Given the description of an element on the screen output the (x, y) to click on. 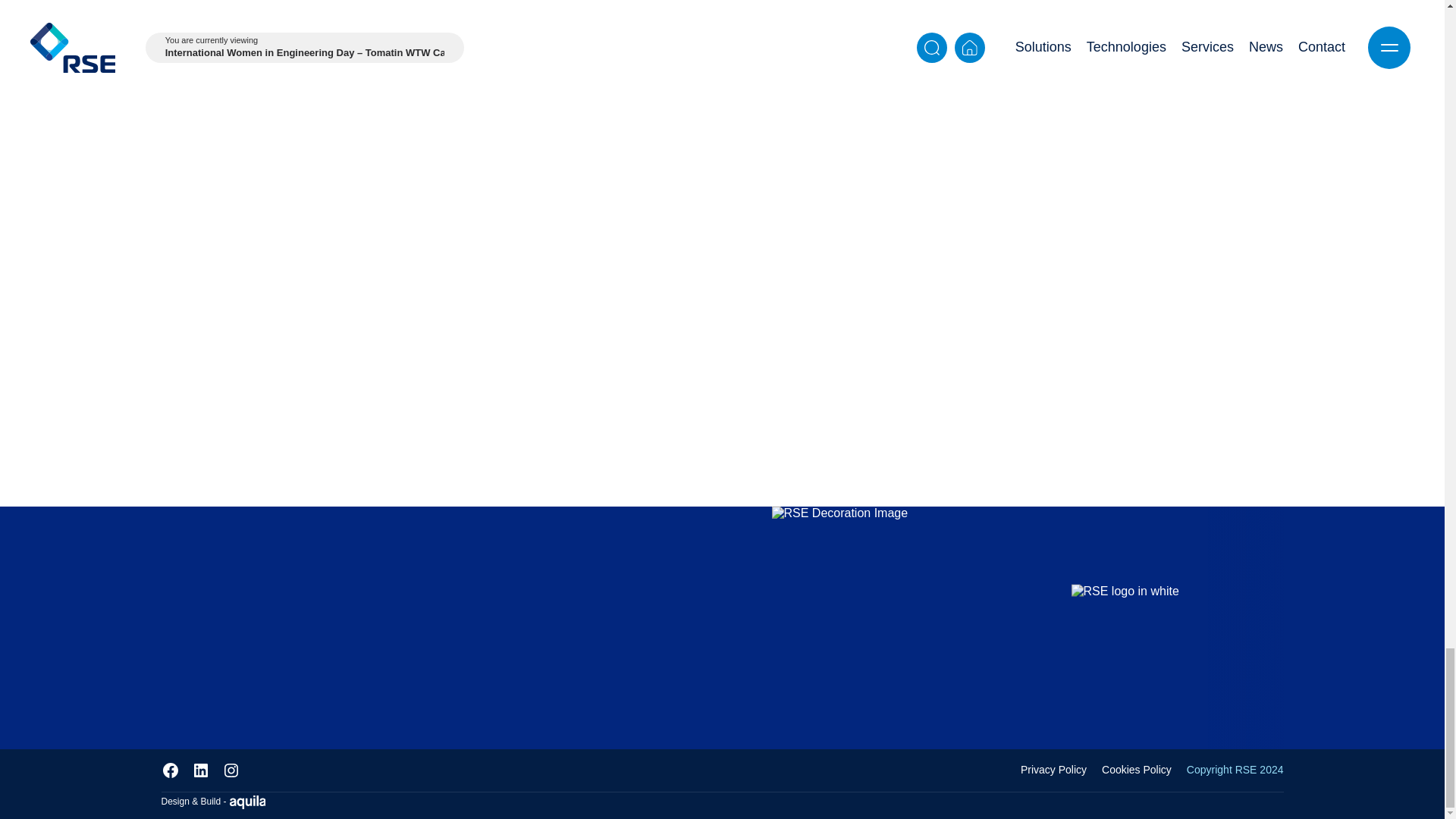
Follow RSE on Instagram (232, 770)
Privacy Policy (1053, 769)
Follow RSE on LinkedIn (202, 770)
Follow RSE on Facebook (171, 770)
Cookies Policy (1136, 769)
